Given the description of an element on the screen output the (x, y) to click on. 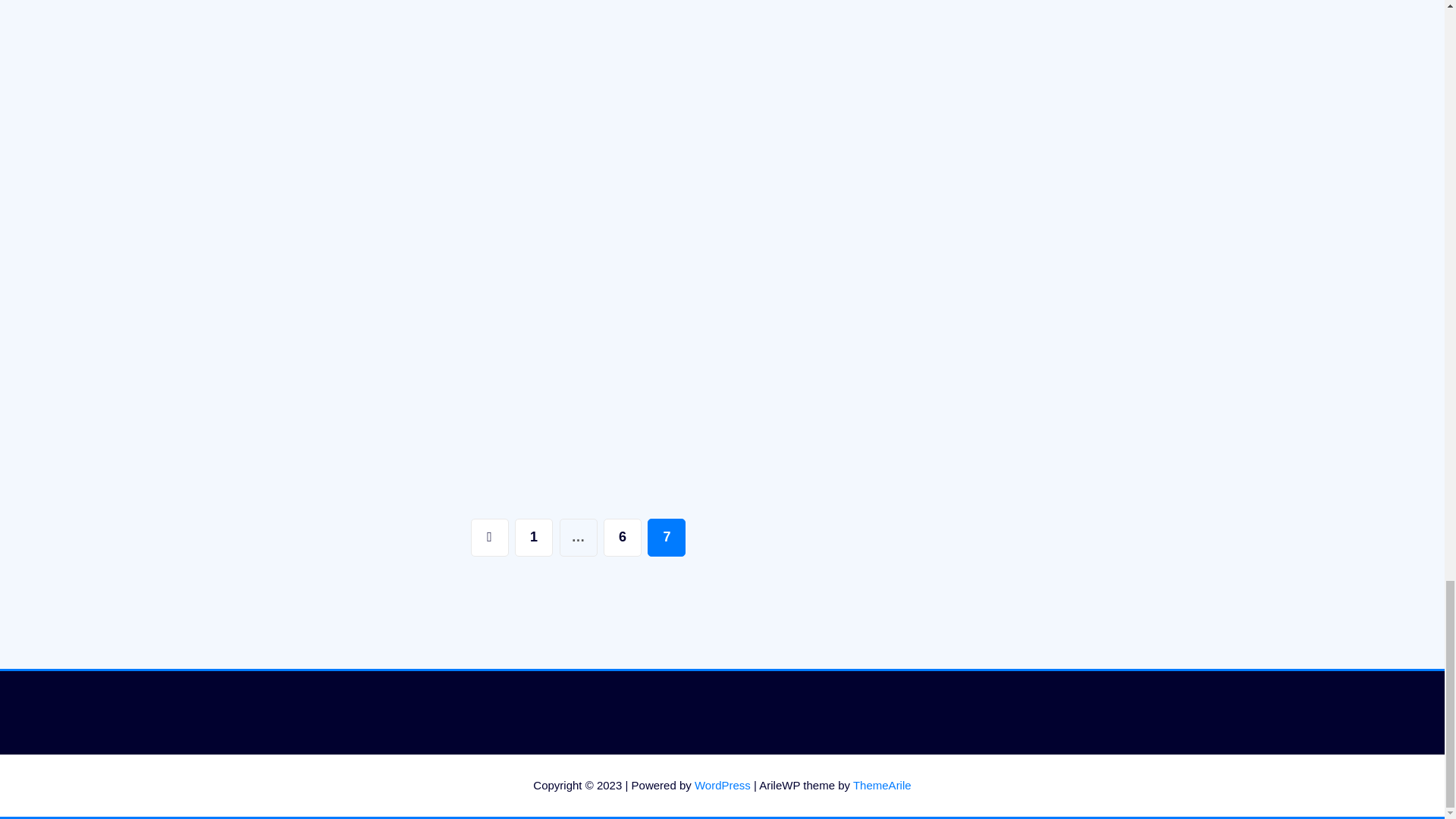
1 (534, 537)
6 (623, 537)
